Given the description of an element on the screen output the (x, y) to click on. 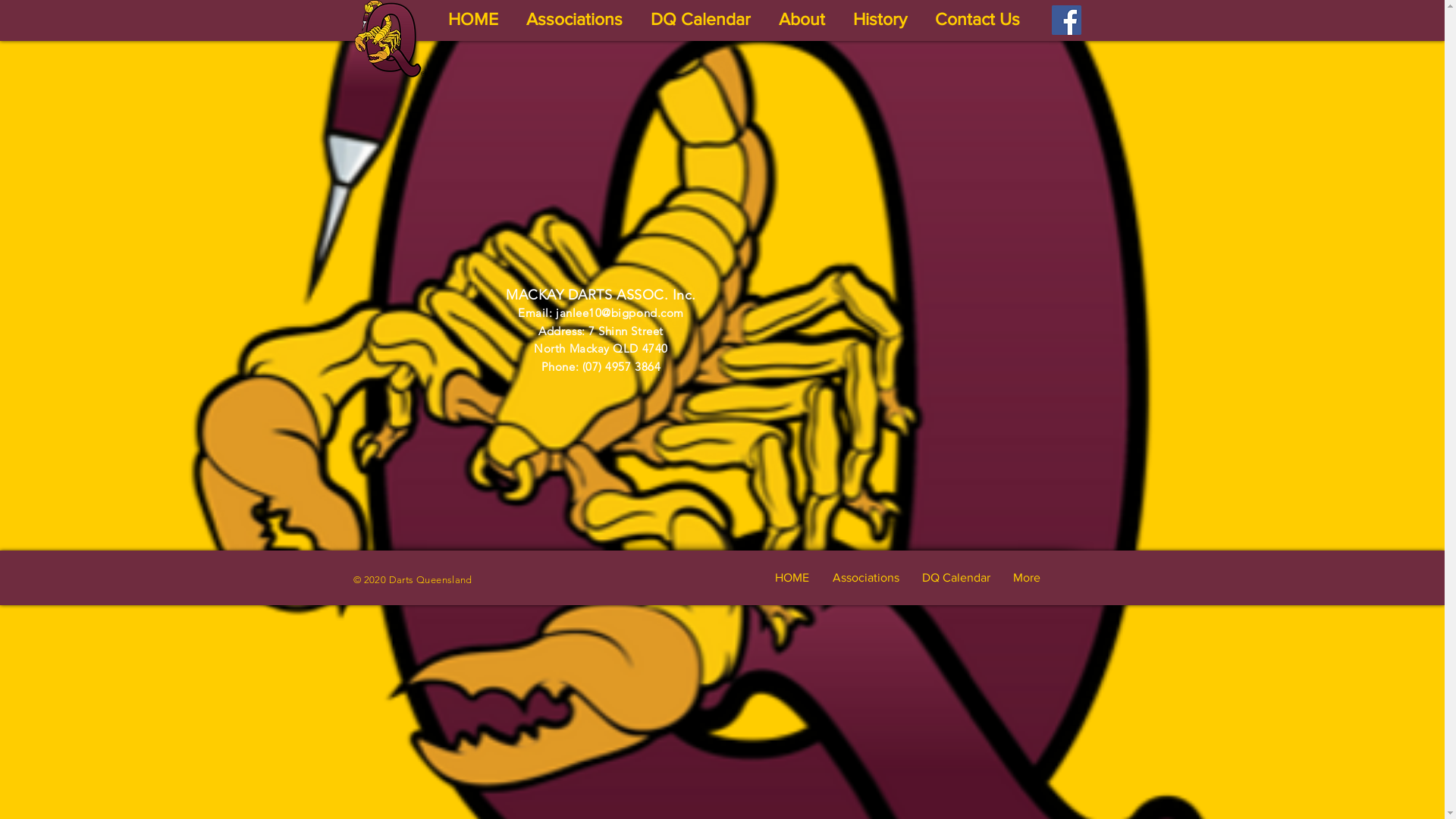
HOME Element type: text (475, 18)
DQ Calendar Element type: text (702, 18)
janlee10@bigpond.com Element type: text (619, 312)
History Element type: text (882, 18)
HOME Element type: text (791, 576)
Google Maps Element type: hover (856, 291)
DQ Calendar Element type: text (955, 576)
About Element type: text (804, 18)
Contact Us Element type: text (979, 18)
